Given the description of an element on the screen output the (x, y) to click on. 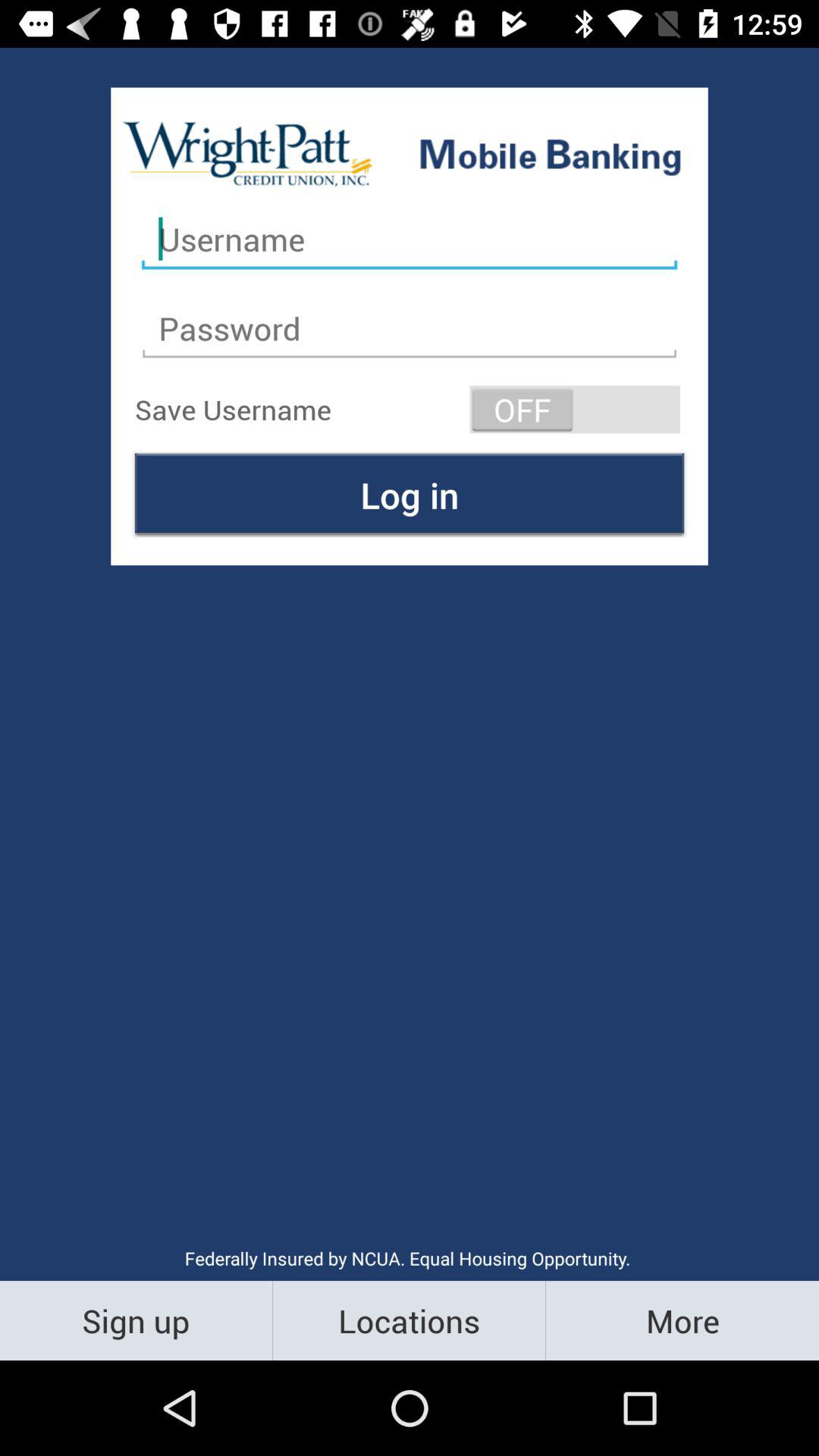
turn on item below federally insured by item (682, 1320)
